Given the description of an element on the screen output the (x, y) to click on. 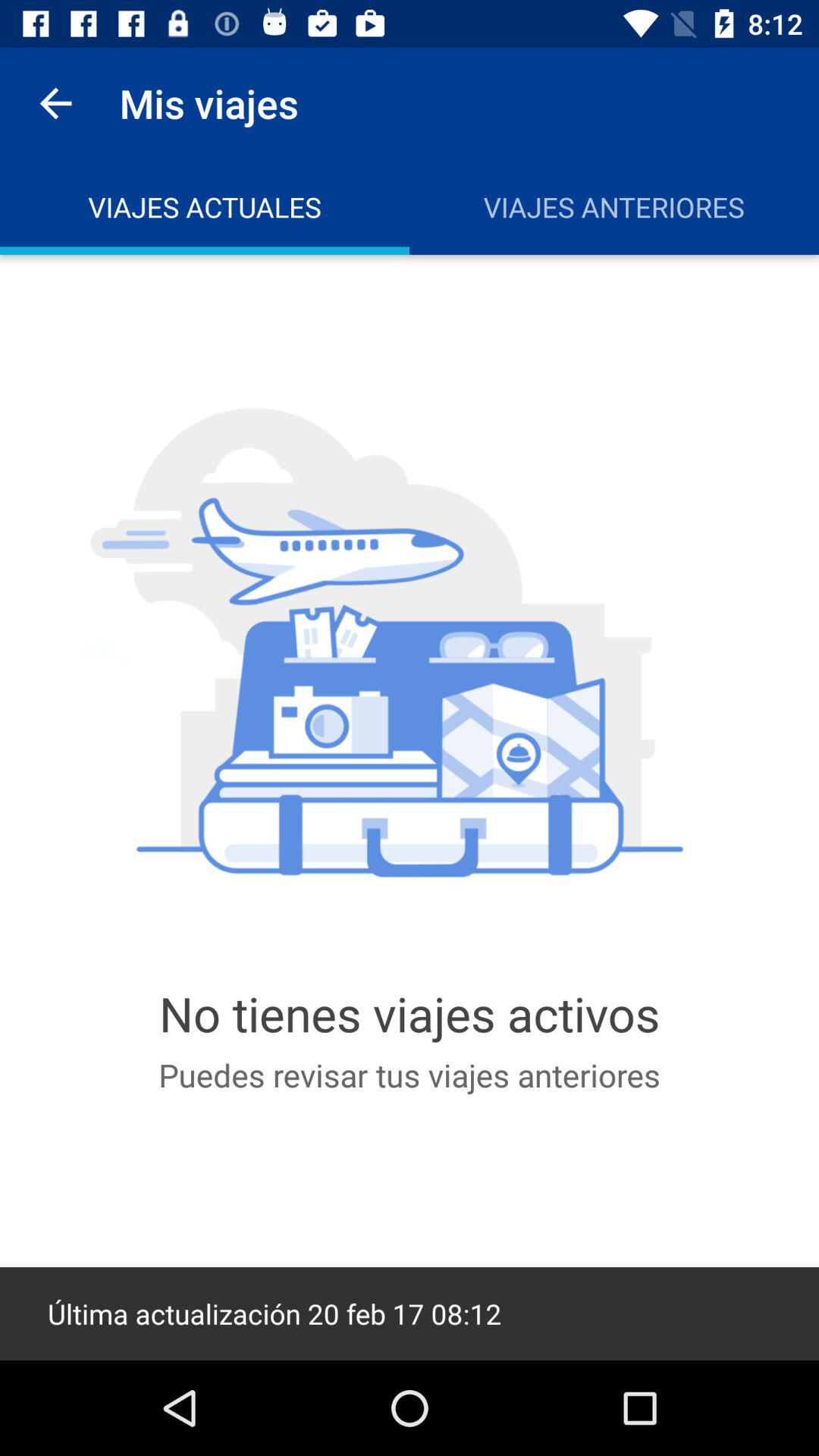
tap the icon to the left of mis viajes icon (55, 103)
